Given the description of an element on the screen output the (x, y) to click on. 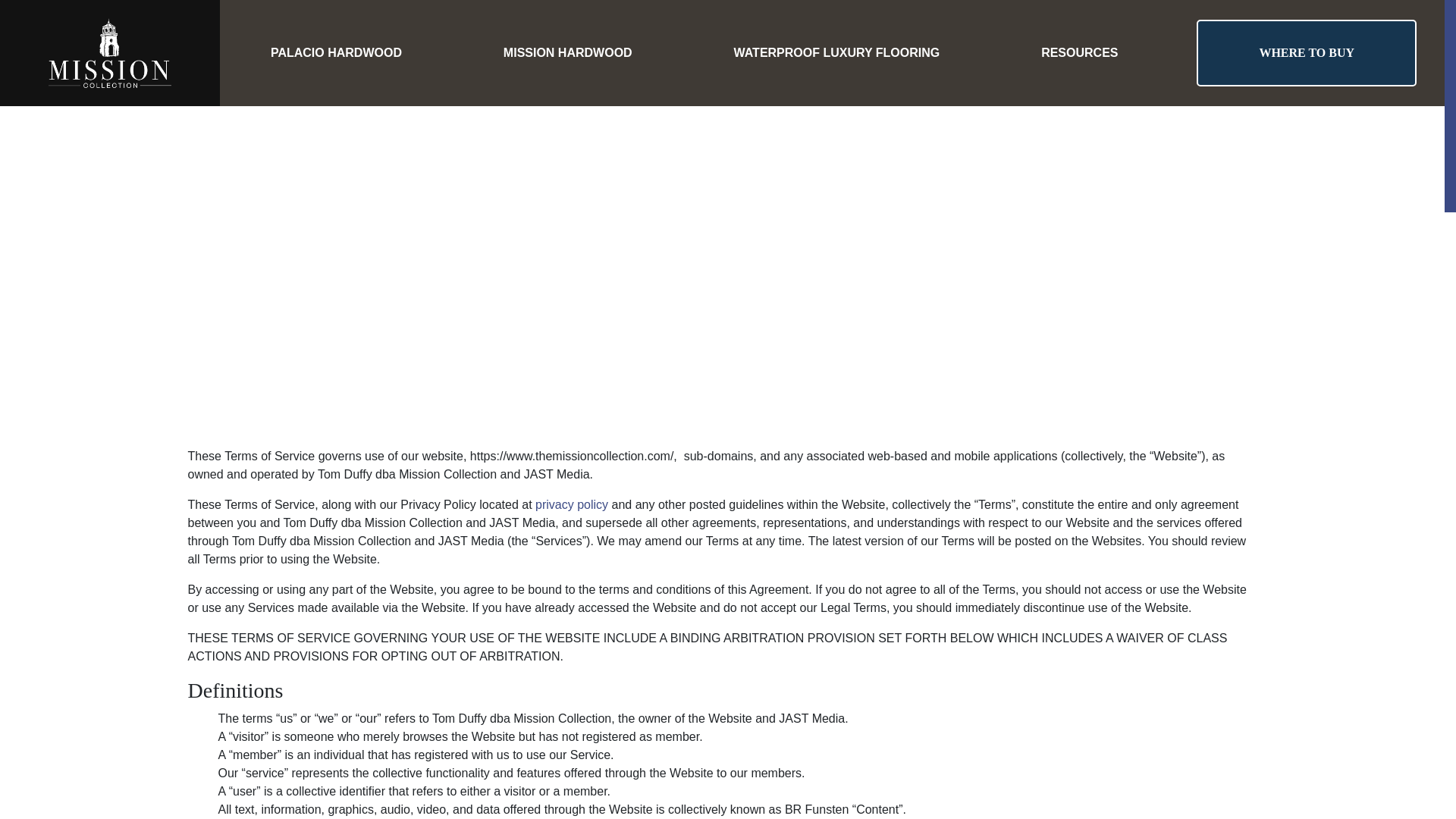
privacy policy (571, 504)
RESOURCES (1079, 53)
MISSION HARDWOOD (567, 53)
Waterproof Luxury Flooring (836, 53)
WATERPROOF LUXURY FLOORING (836, 53)
Resources (1079, 53)
WHERE TO BUY (1306, 53)
Palacio Hardwood (335, 53)
Mission Hardwood (567, 53)
PALACIO HARDWOOD (335, 53)
